Given the description of an element on the screen output the (x, y) to click on. 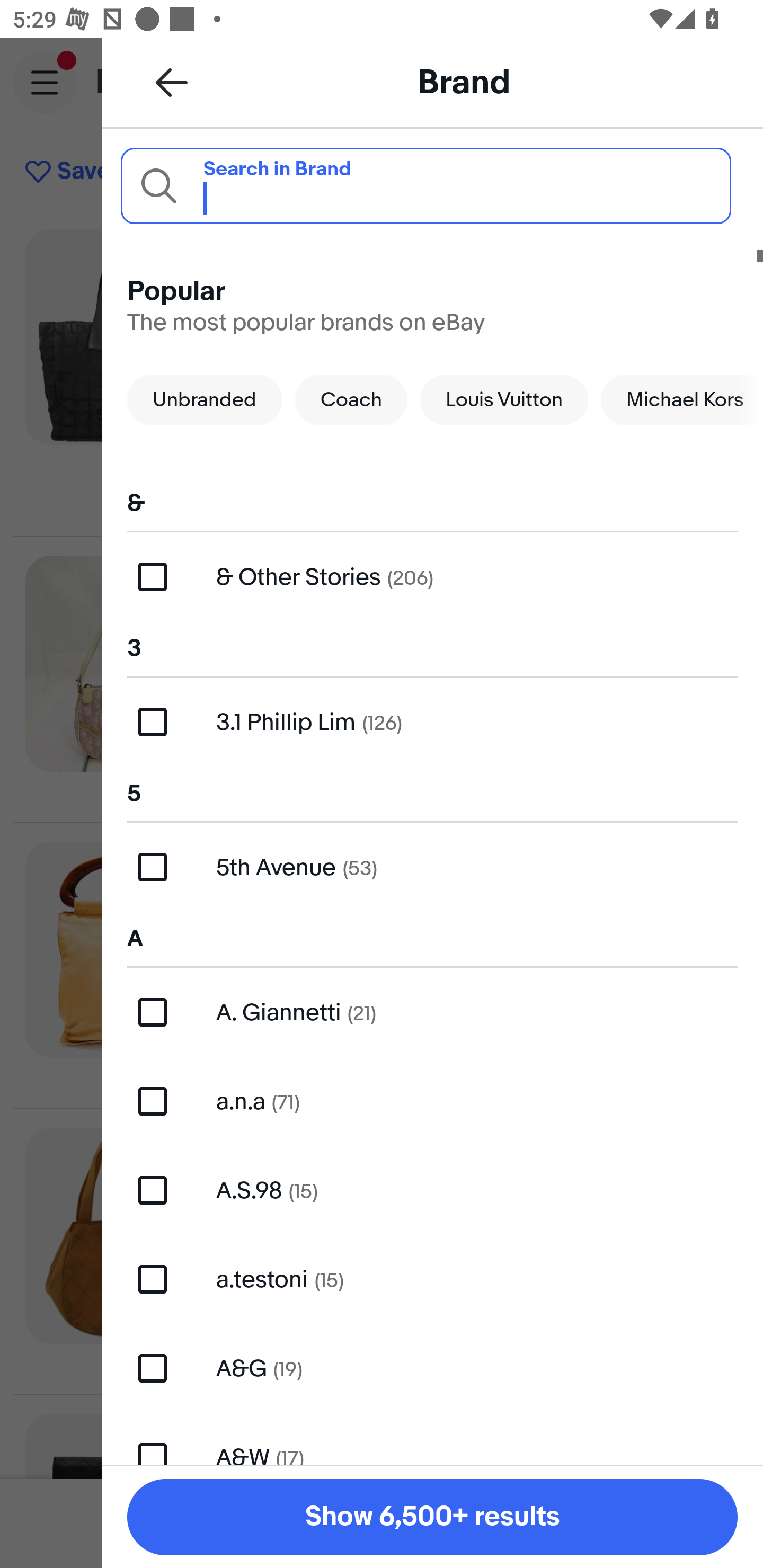
Back to all refinements (171, 81)
Search in Brand (425, 185)
Unbranded (204, 399)
Coach (351, 399)
Louis Vuitton (504, 399)
Michael Kors (682, 399)
& Other Stories (206) (432, 576)
3.1 Phillip Lim (126) (432, 721)
5th Avenue (53) (432, 867)
A. Giannetti (21) (432, 1011)
a.n.a (71) (432, 1101)
A.S.98 (15) (432, 1190)
a.testoni (15) (432, 1279)
A&G (19) (432, 1367)
A&W (17) (432, 1438)
Show 6,500+ results (432, 1516)
